Given the description of an element on the screen output the (x, y) to click on. 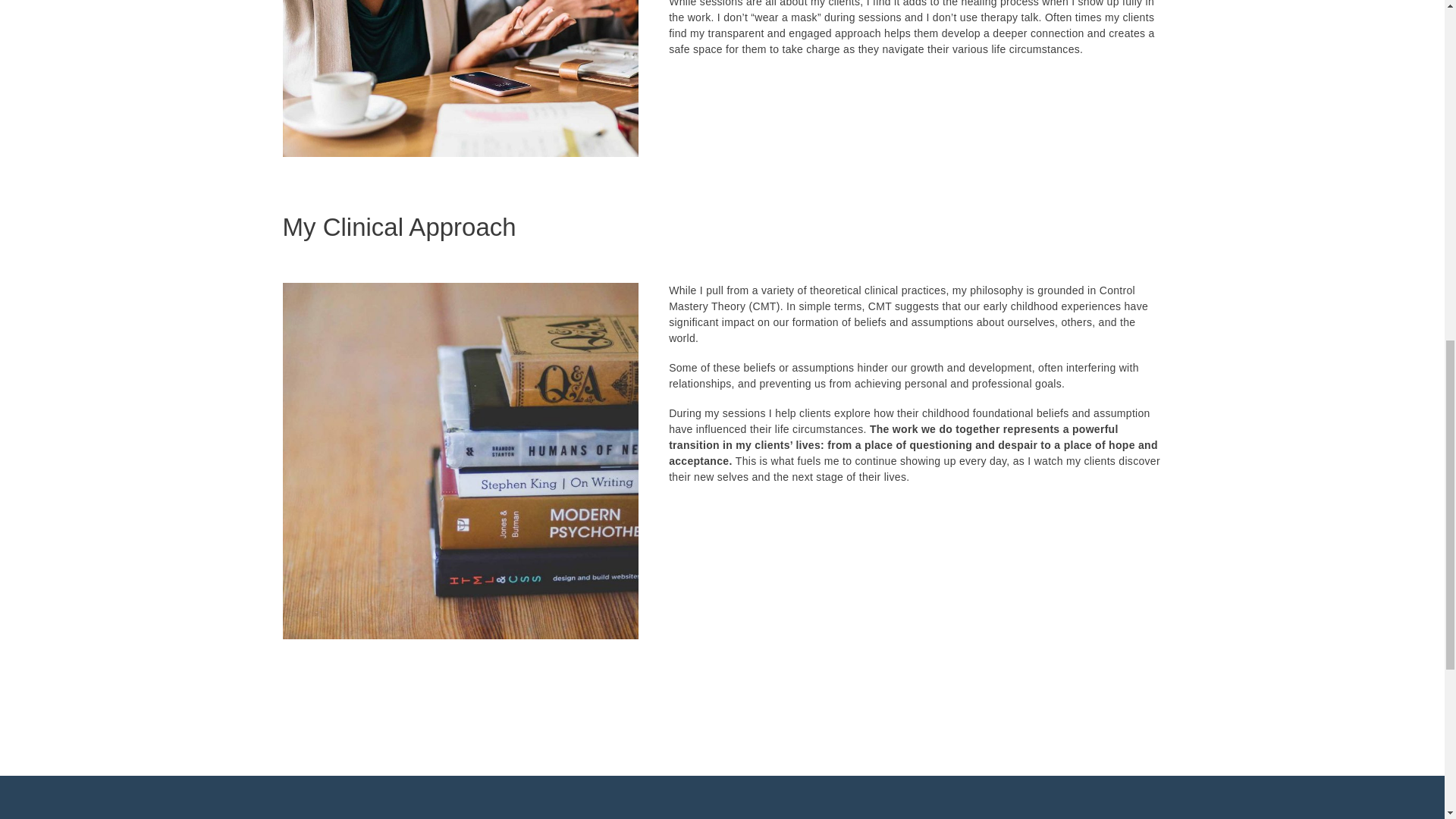
dr-helga-fasching-psyd-san-francisco-therapist-11 (460, 460)
dr-helga-fasching-psyd-san-francisco-therapist-12 (460, 78)
